Given the description of an element on the screen output the (x, y) to click on. 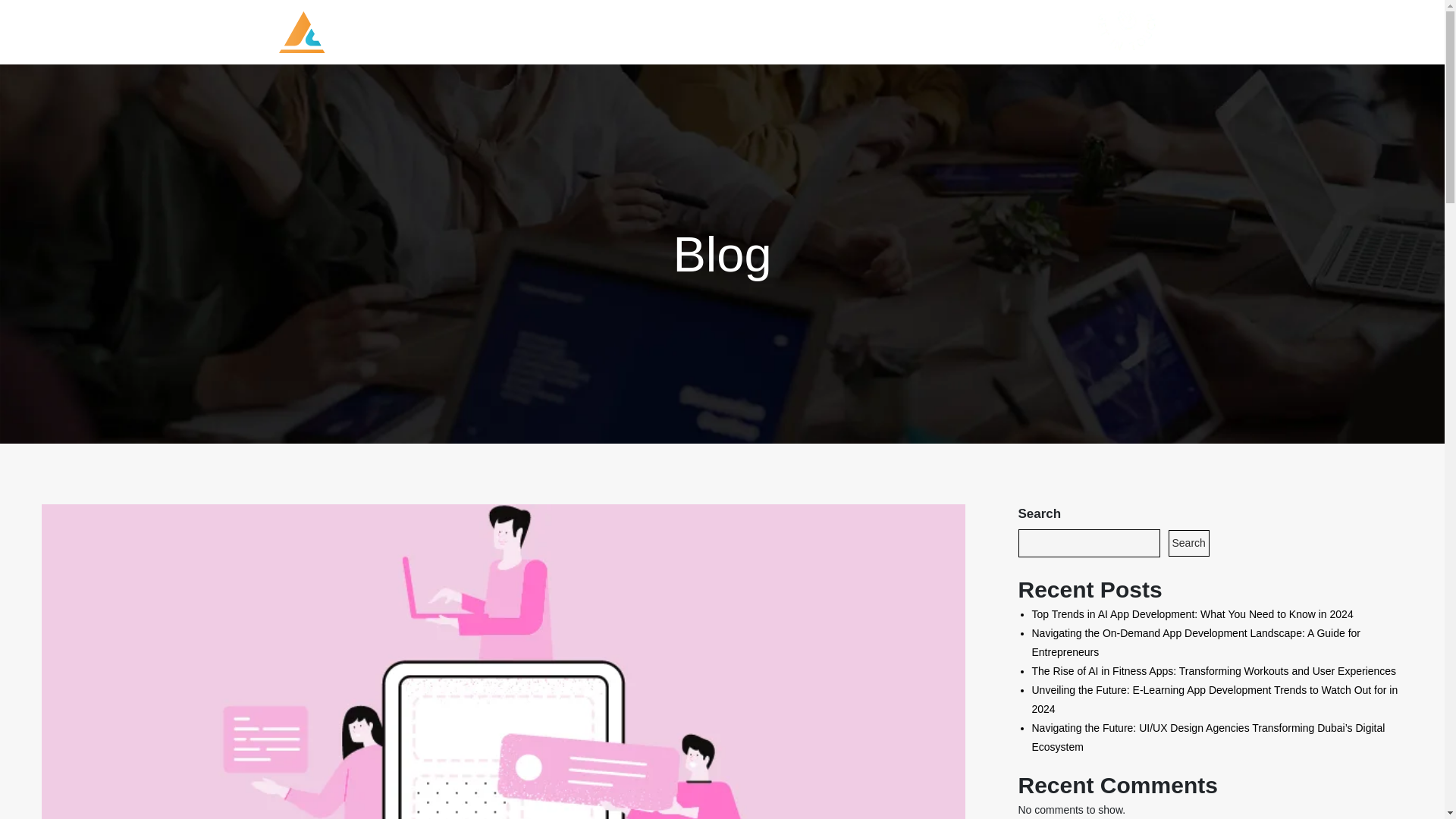
Contact Us (972, 31)
Industries (694, 31)
Home (539, 31)
Portfolios (848, 31)
Blog (908, 31)
Services (608, 31)
Search (1187, 542)
About Us (775, 31)
